Given the description of an element on the screen output the (x, y) to click on. 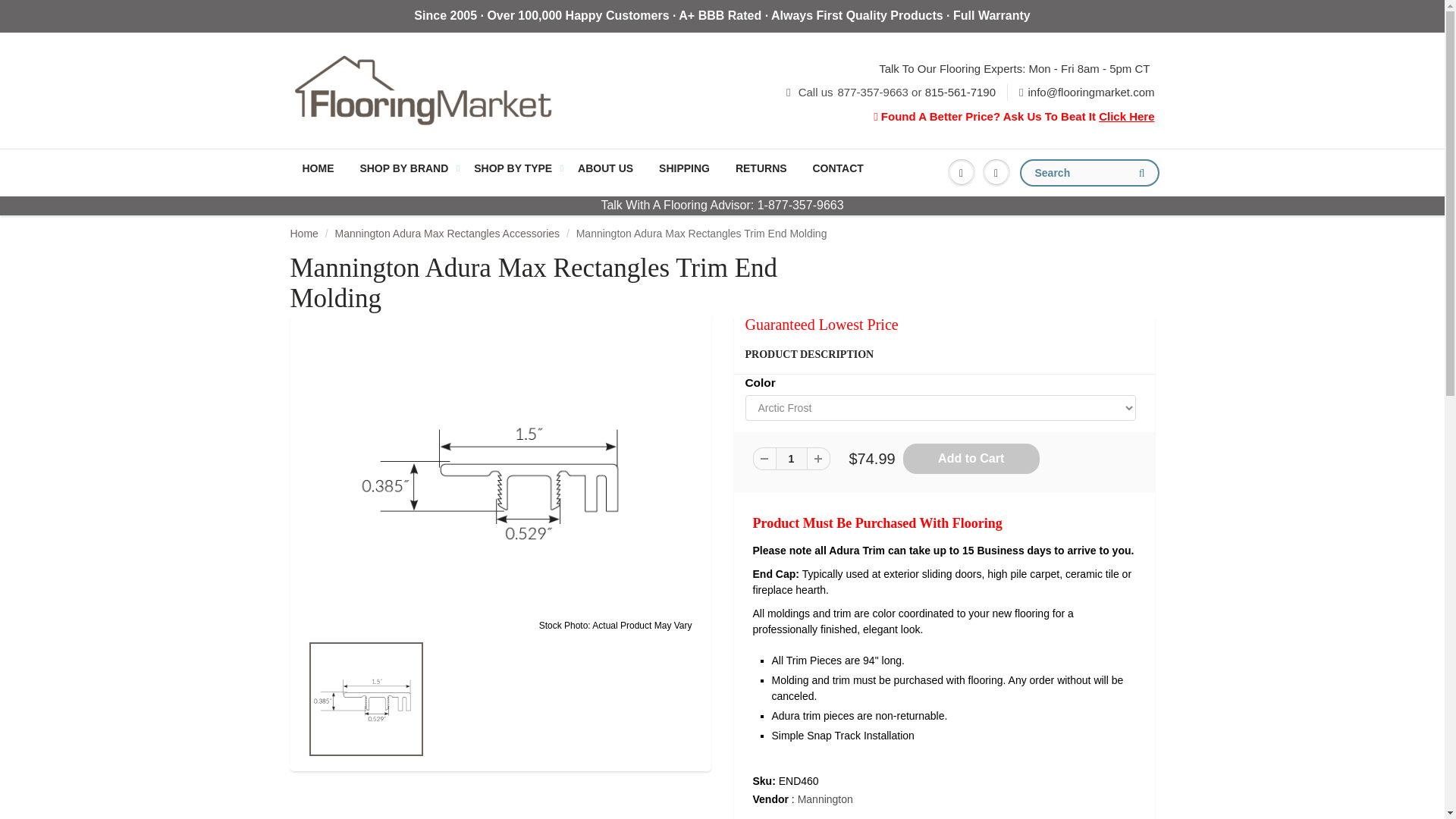
815-561-7190 (959, 91)
Call us877-357-9663 (852, 91)
Mannington Adura Max Rectangles Accessories (447, 233)
Home (303, 233)
Mannington (825, 799)
Click Here (1126, 115)
Add to Cart (970, 458)
1 (790, 458)
